Given the description of an element on the screen output the (x, y) to click on. 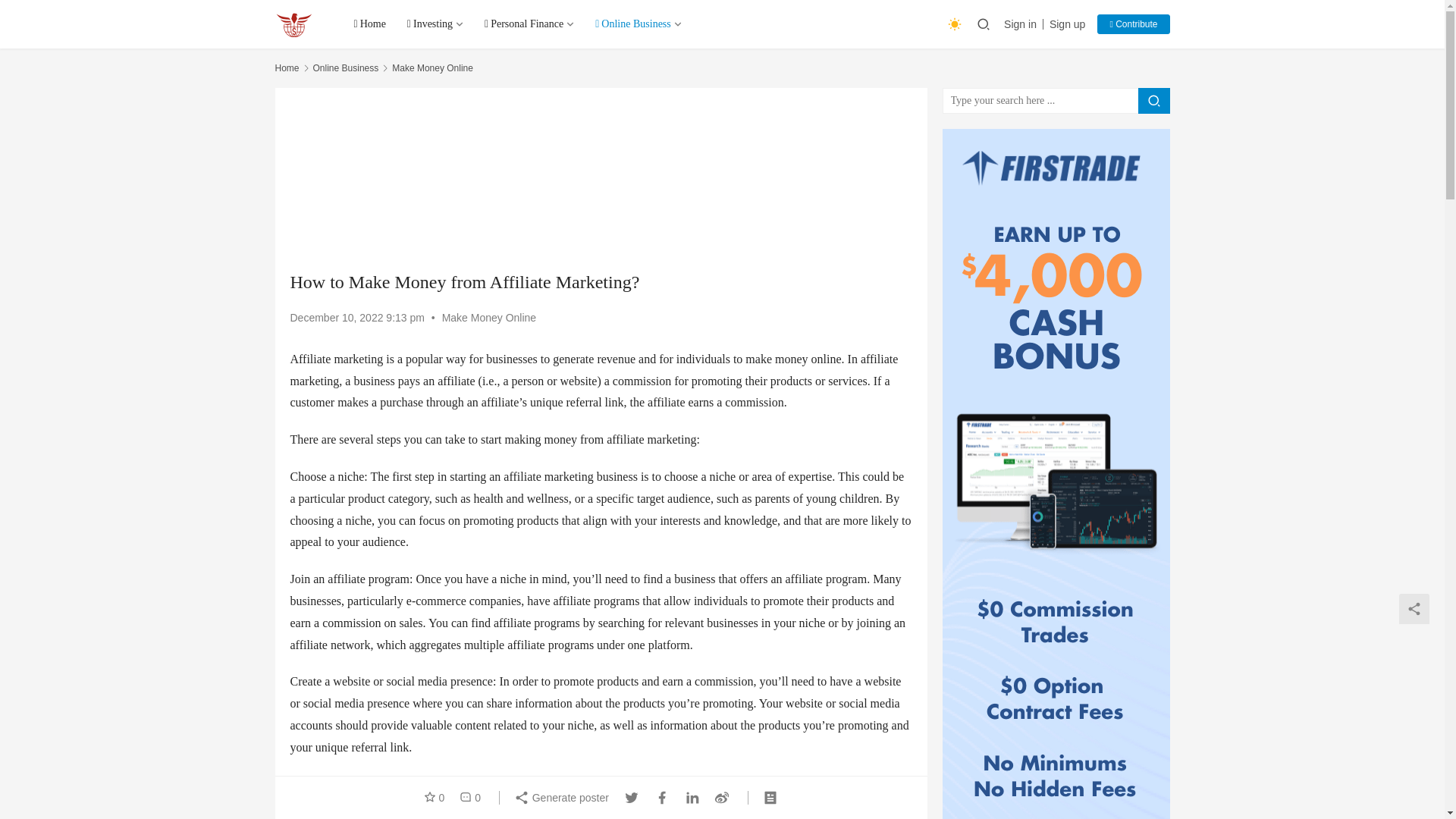
Advertisement (600, 178)
Online Business (345, 68)
Investing (435, 24)
0 (466, 797)
Home (369, 24)
Personal Finance (529, 24)
Make Money Online (432, 68)
Contribute (1133, 24)
Sign in (1023, 24)
Online Business (639, 24)
Sign up (1066, 24)
0 (437, 797)
Home (286, 68)
Make Money Online (489, 317)
